Given the description of an element on the screen output the (x, y) to click on. 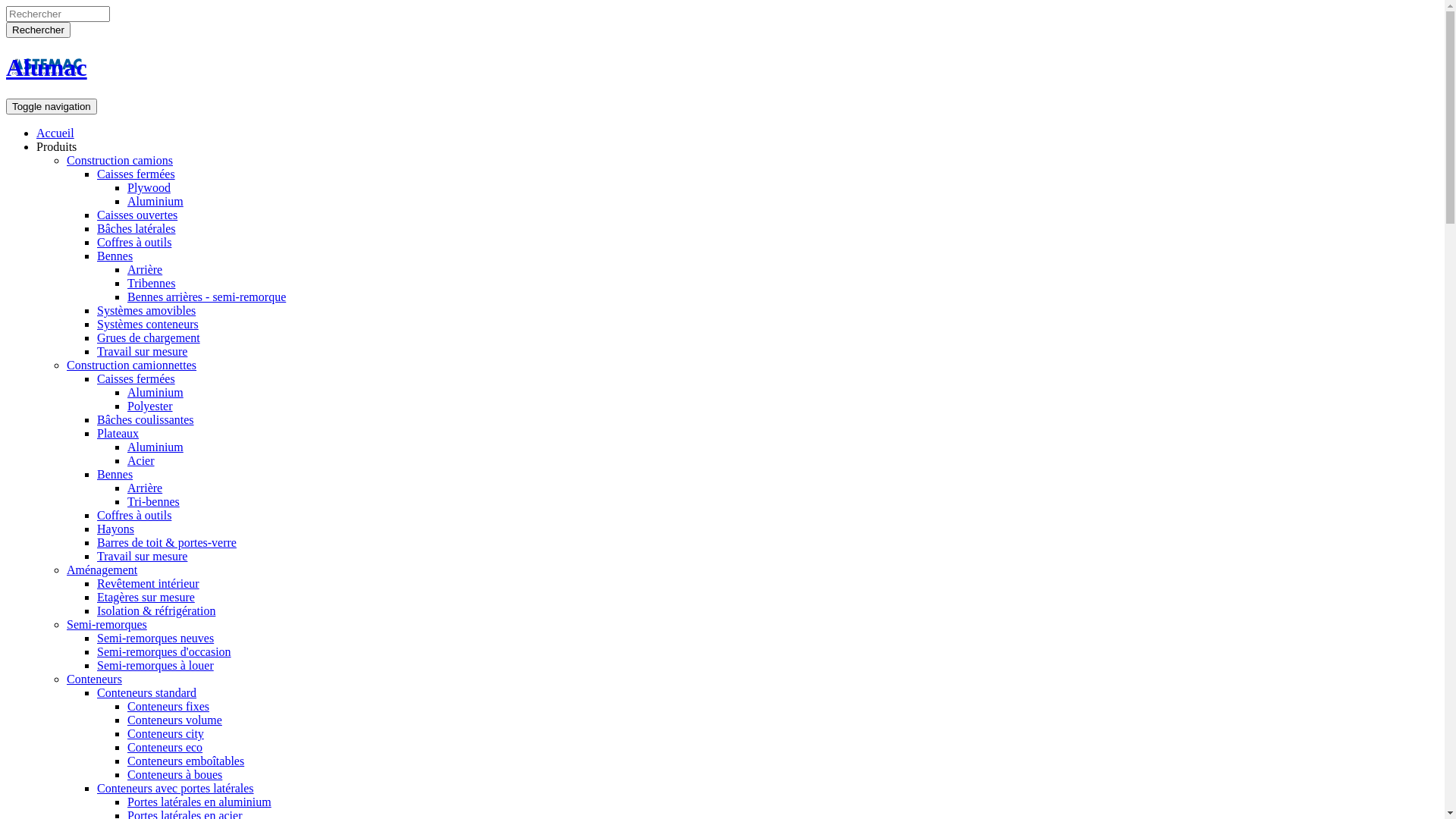
Aluminium Element type: text (155, 391)
Acier Element type: text (140, 460)
Aller au contenu principal Element type: text (6, 6)
Plywood Element type: text (148, 187)
Tribennes Element type: text (151, 282)
Travail sur mesure Element type: text (142, 555)
Hayons Element type: text (115, 528)
Bennes Element type: text (114, 255)
Conteneurs fixes Element type: text (168, 705)
Tri-bennes Element type: text (153, 501)
Conteneurs volume Element type: text (174, 719)
Polyester Element type: text (149, 405)
Aluminium Element type: text (155, 200)
Accueil Element type: text (55, 132)
Conteneurs eco Element type: text (164, 746)
Semi-remorques Element type: text (106, 624)
Plateaux Element type: text (117, 432)
Construction camions Element type: text (119, 159)
Rechercher Element type: text (38, 29)
Conteneurs city Element type: text (165, 733)
Alumac Element type: text (46, 67)
Barres de toit & portes-verre Element type: text (166, 542)
Semi-remorques neuves Element type: text (155, 637)
Caisses ouvertes Element type: text (137, 214)
Toggle navigation Element type: text (51, 106)
Conteneurs Element type: text (94, 678)
Aluminium Element type: text (155, 446)
Conteneurs standard Element type: text (146, 692)
Bennes Element type: text (114, 473)
Semi-remorques d'occasion Element type: text (164, 651)
Construction camionnettes Element type: text (131, 364)
Travail sur mesure Element type: text (142, 351)
Grues de chargement Element type: text (148, 337)
